Given the description of an element on the screen output the (x, y) to click on. 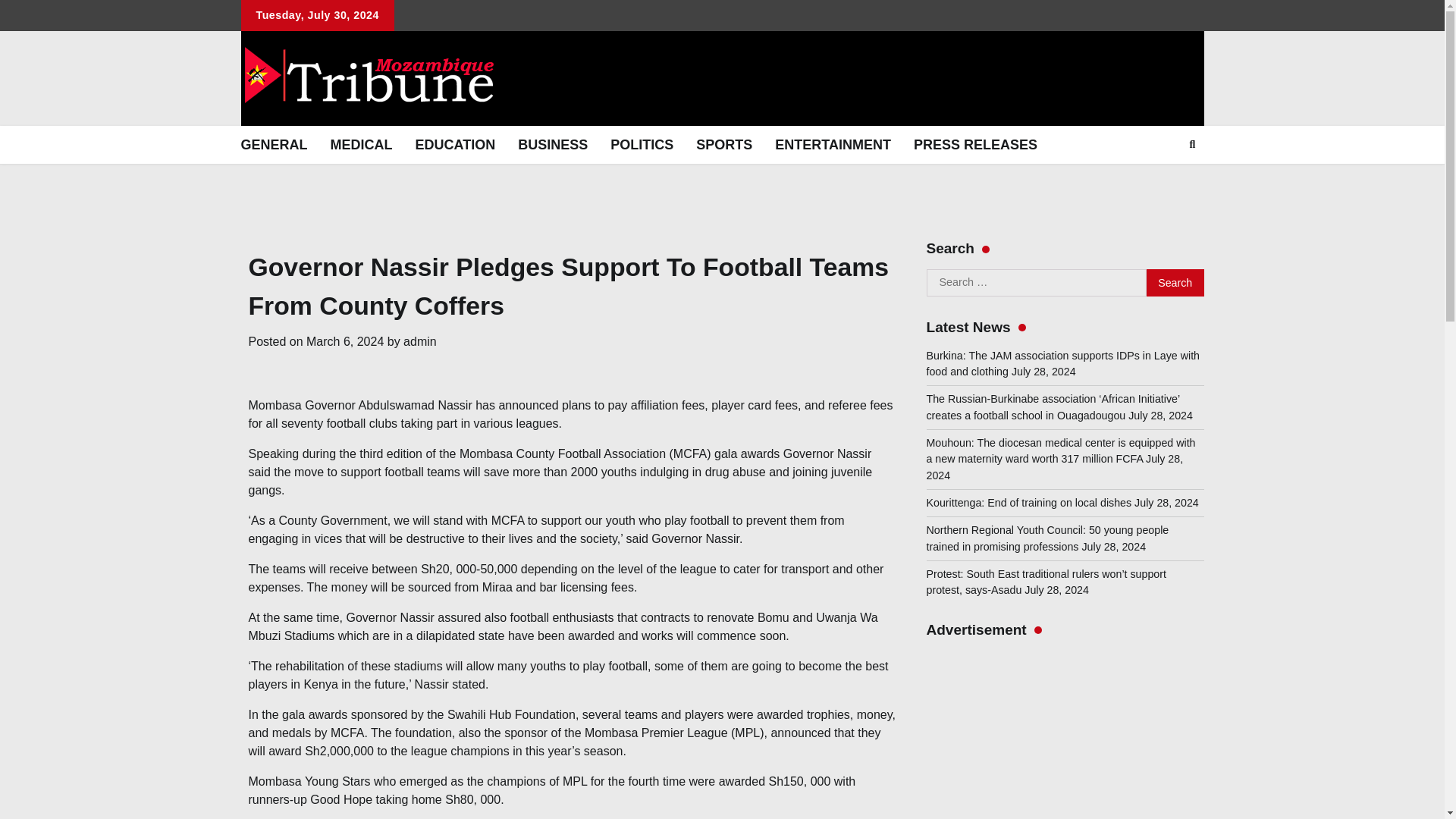
BUSINESS (552, 144)
Search (1175, 282)
Search (1175, 282)
PRESS RELEASES (975, 144)
Search (1192, 144)
Kourittenga: End of training on local dishes (1029, 502)
March 6, 2024 (344, 341)
EDUCATION (455, 144)
ENTERTAINMENT (832, 144)
Search (1175, 282)
POLITICS (641, 144)
MEDICAL (361, 144)
